Given the description of an element on the screen output the (x, y) to click on. 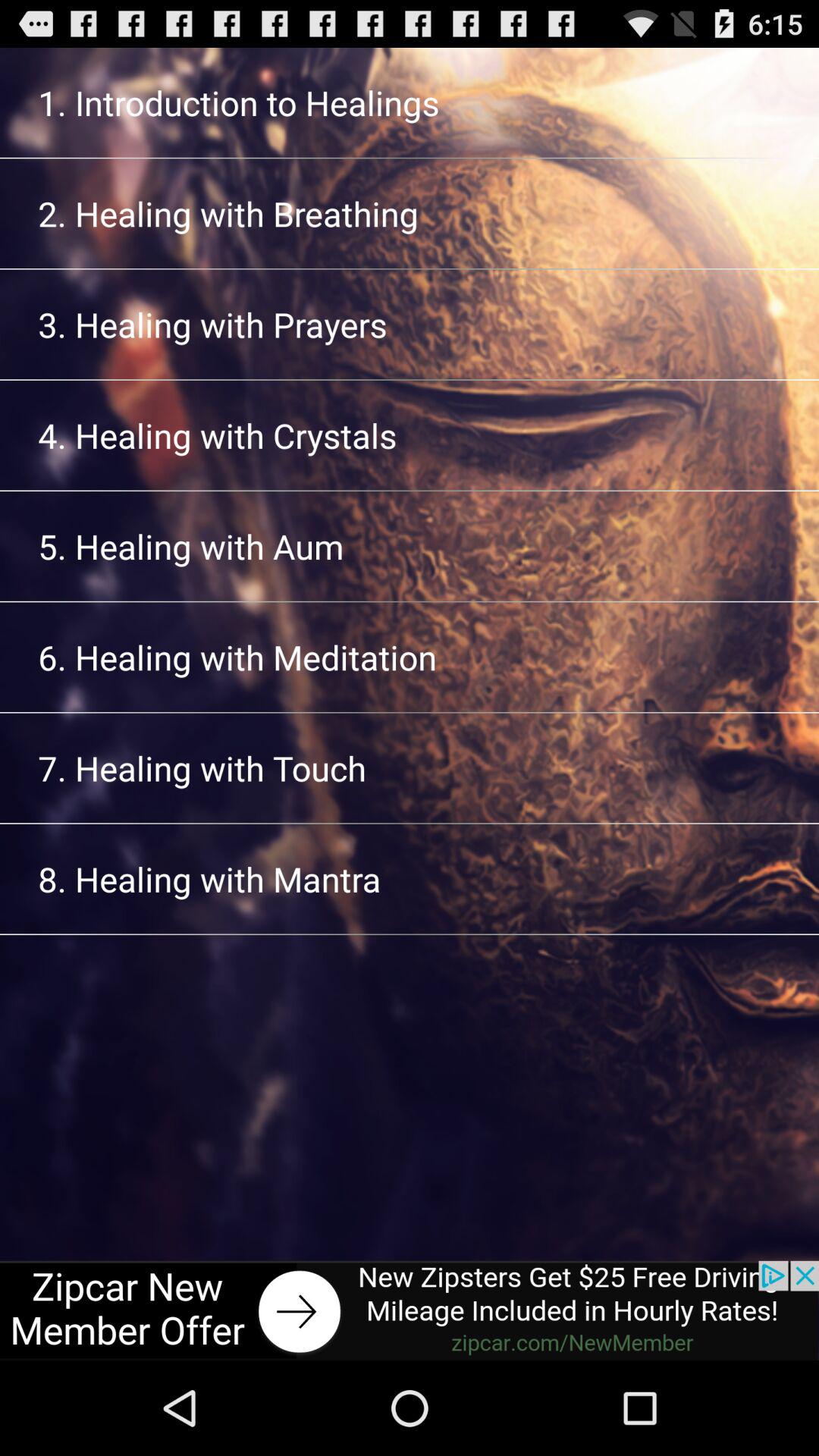
open advertisement (409, 1310)
